Given the description of an element on the screen output the (x, y) to click on. 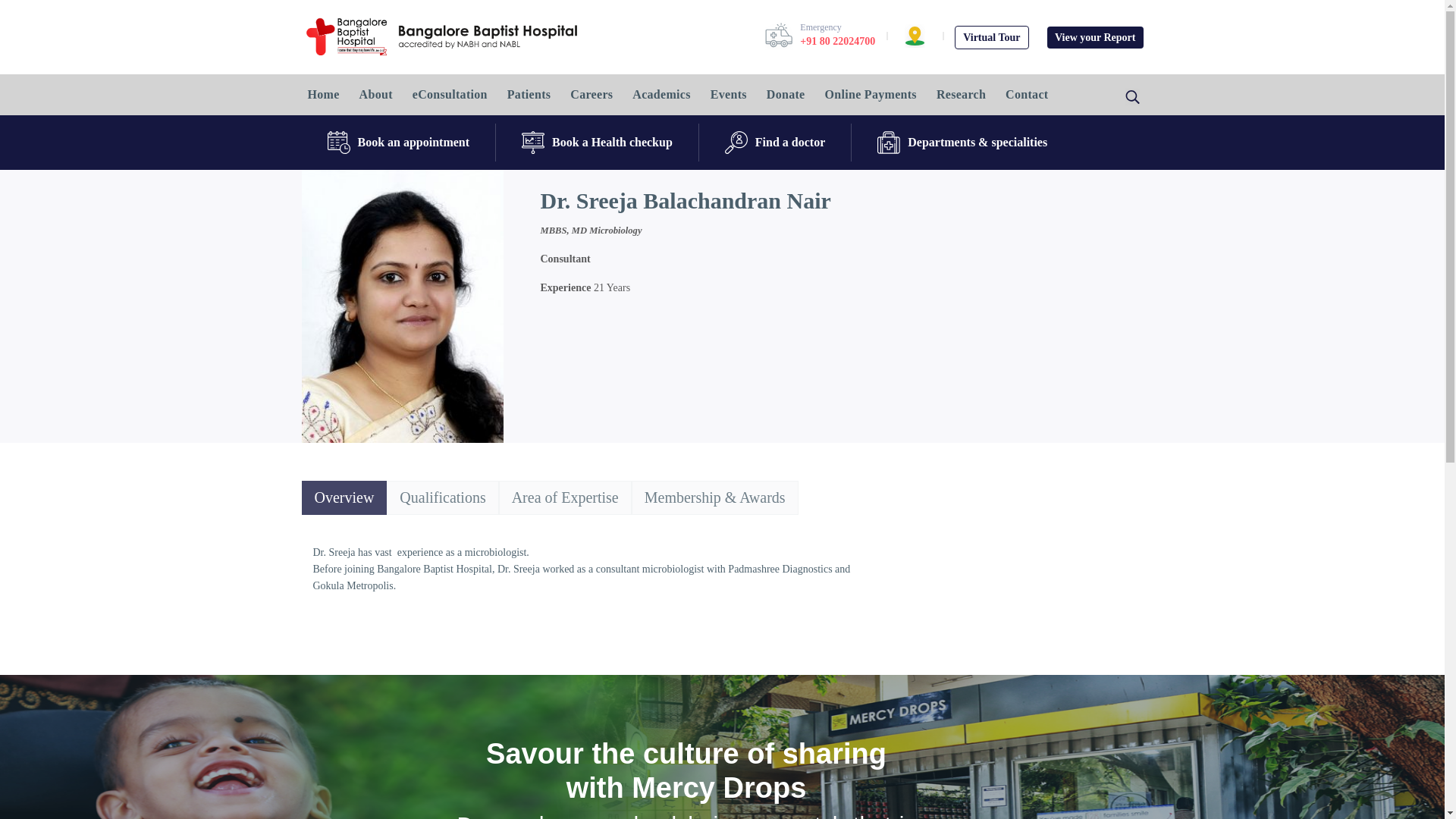
Online Payments (870, 94)
Careers (591, 94)
View your Report (1094, 36)
Patients (528, 94)
Home (323, 94)
About (375, 94)
eConsultation (449, 94)
Academics (660, 94)
Book an appointment (398, 142)
Careers (591, 94)
